Given the description of an element on the screen output the (x, y) to click on. 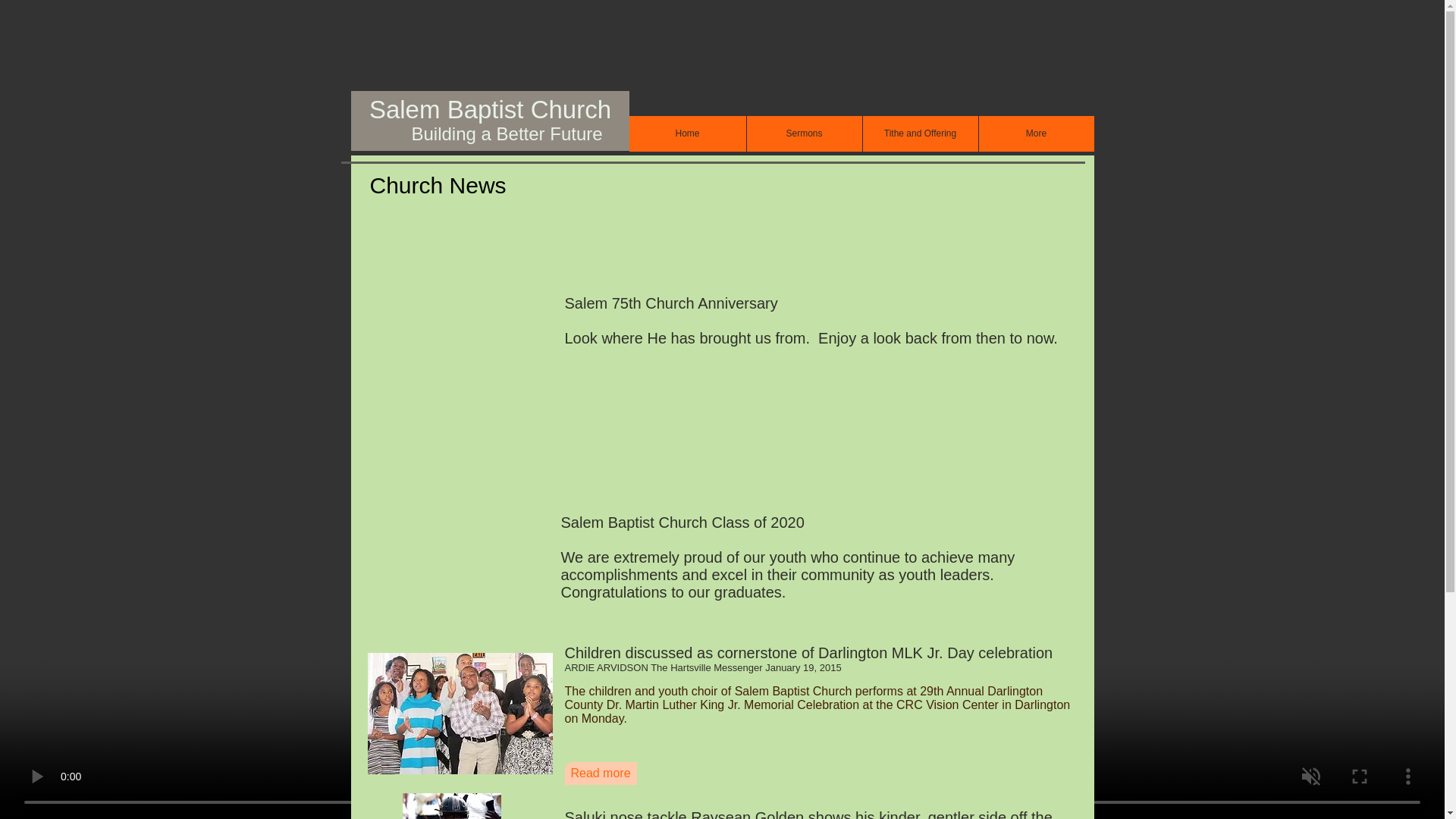
Home (686, 133)
Children MLK Day.jpg (458, 712)
Read more (600, 773)
Sermons (803, 133)
Tithe and Offering (918, 133)
